Given the description of an element on the screen output the (x, y) to click on. 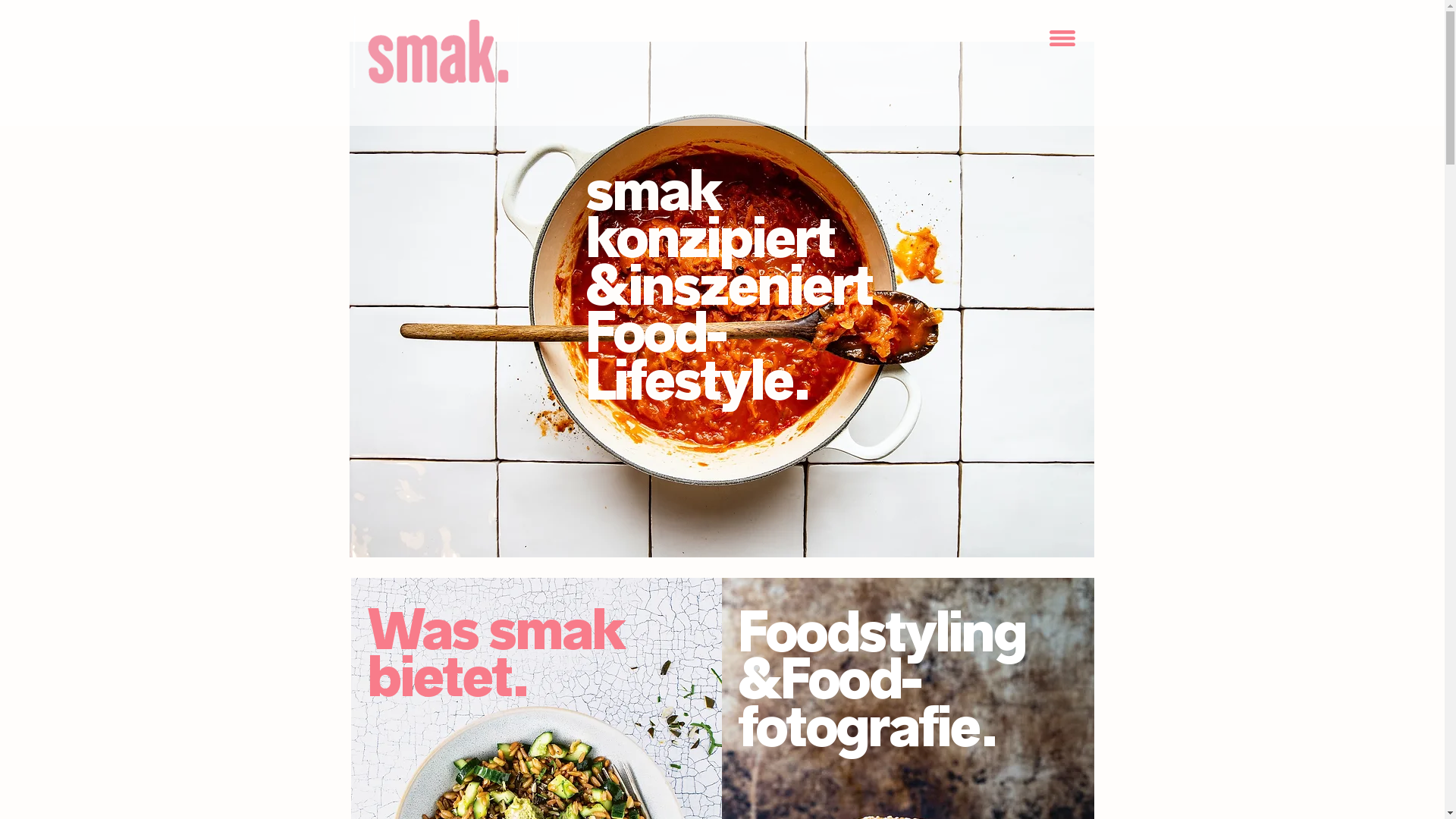
Foodstyling &Food-
fotografie. Element type: text (880, 678)
Was smak bietet. Element type: text (495, 652)
smak
konzipiert
&inszeniert
Food-
Lifestyle. Element type: text (728, 284)
